Given the description of an element on the screen output the (x, y) to click on. 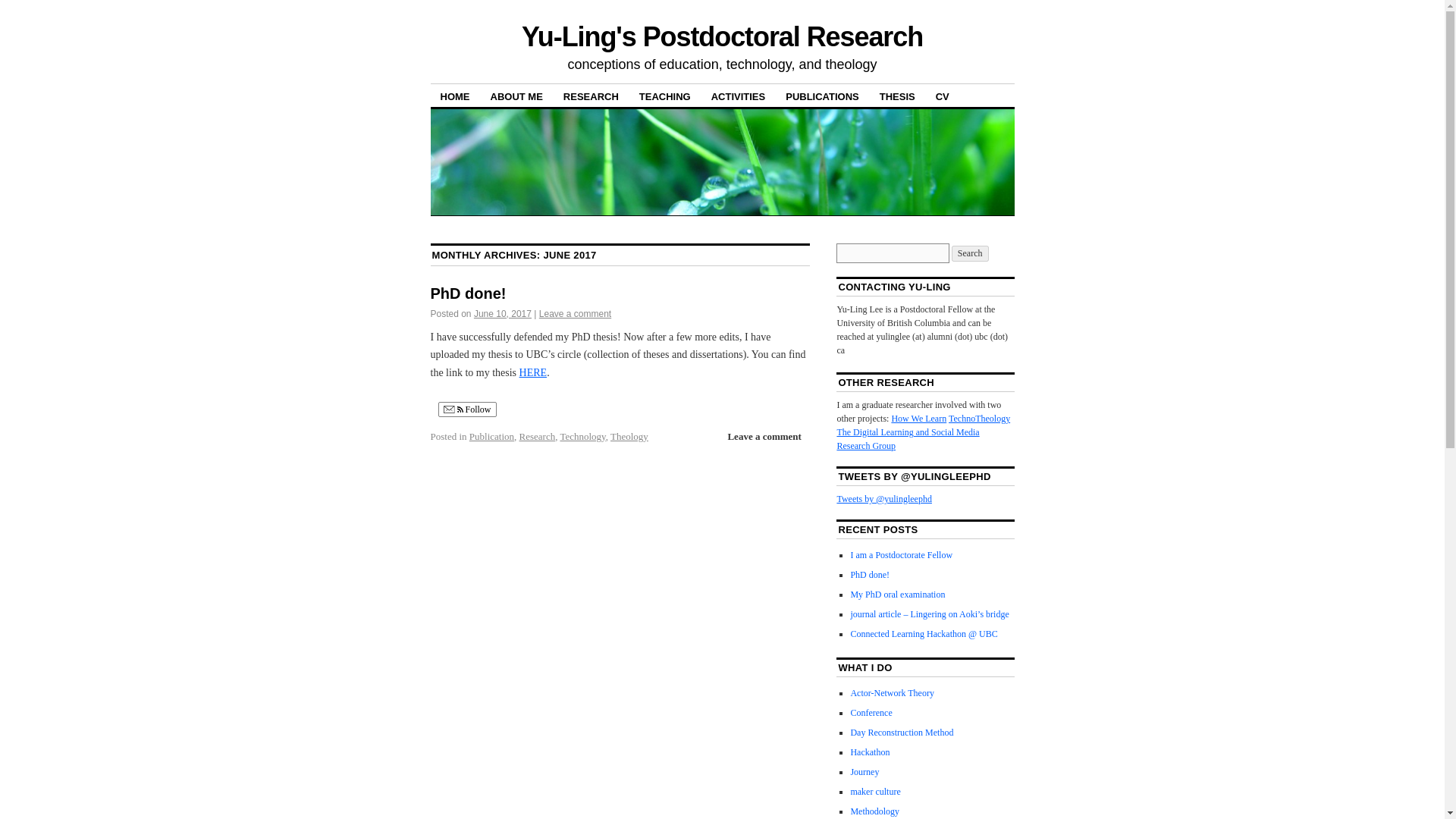
My PhD oral examination (897, 593)
TechnoTheology (979, 418)
I am a Postdoctorate Fellow (901, 554)
ABOUT ME (516, 96)
Search (970, 253)
Follow (467, 409)
CV (942, 96)
Technology (582, 436)
Conference (870, 712)
HOME (455, 96)
Leave a comment (763, 436)
PhD done! (869, 574)
Yu-Ling's Postdoctoral Research (722, 36)
June 10, 2017 (502, 313)
How We Learn (918, 418)
